Given the description of an element on the screen output the (x, y) to click on. 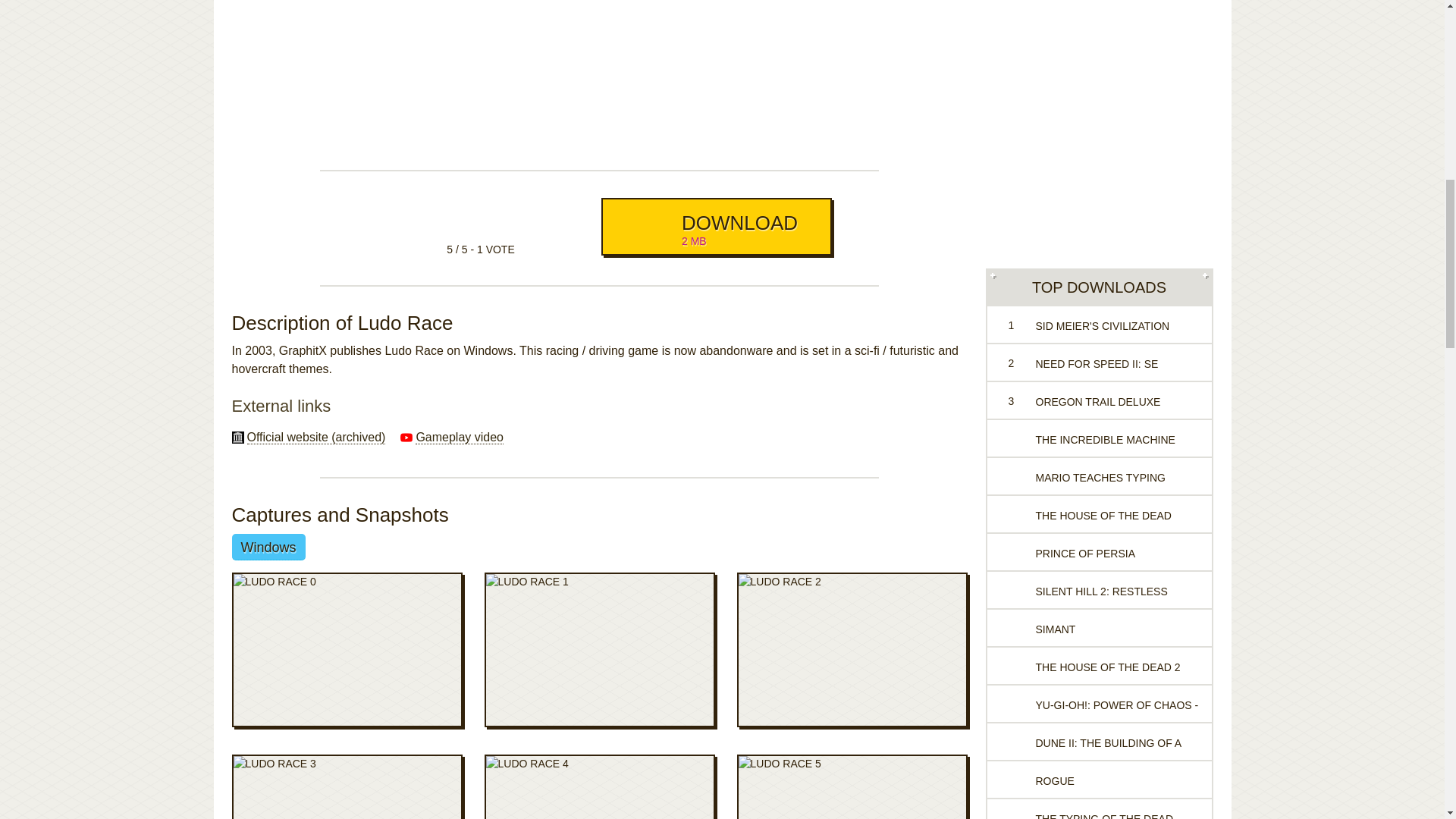
Windows (268, 546)
Gameplay video (458, 437)
